Given the description of an element on the screen output the (x, y) to click on. 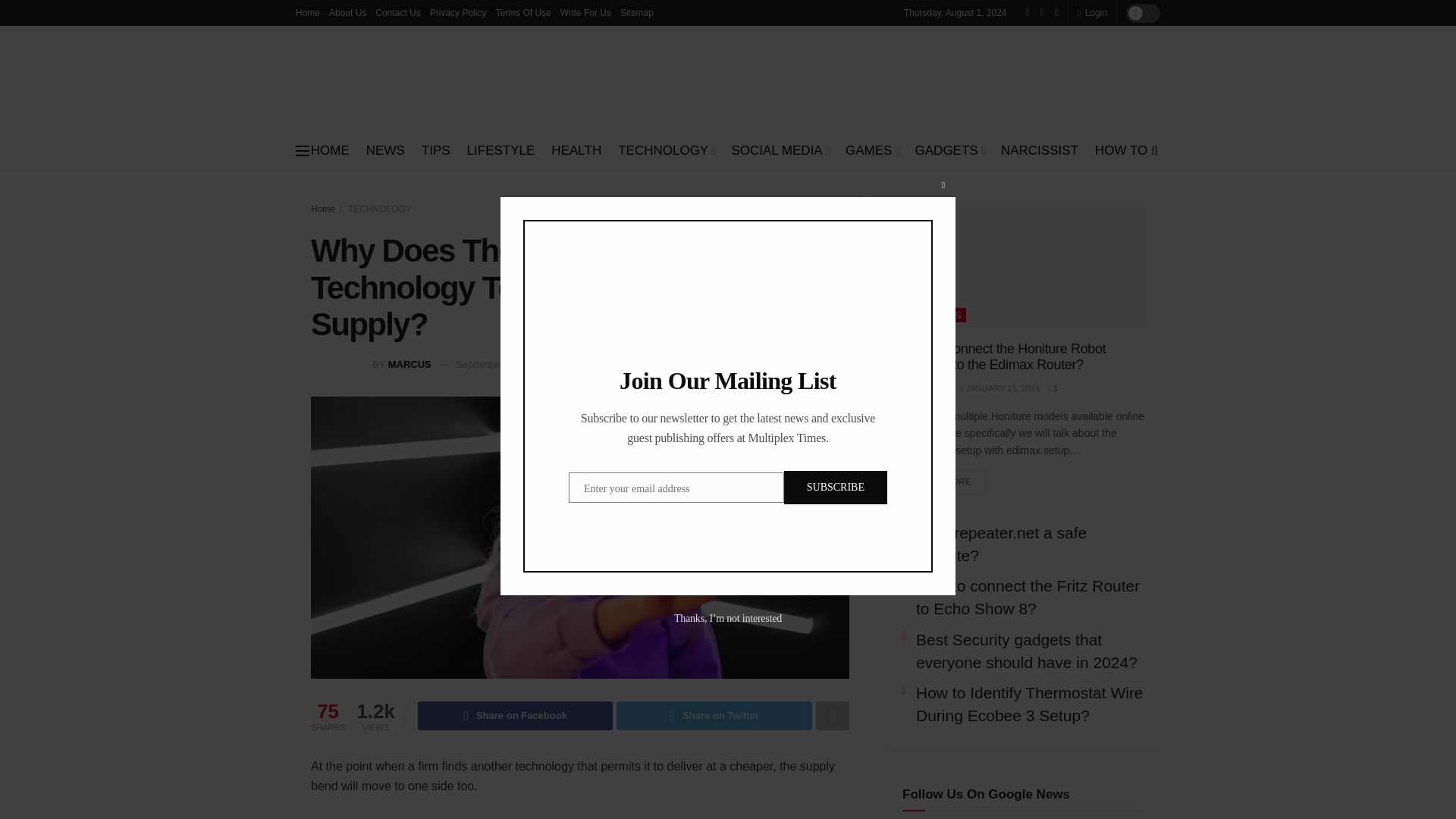
Sitemap (636, 12)
TIPS (435, 150)
About Us (347, 12)
NEWS (385, 150)
Privacy Policy (457, 12)
Terms Of Use (522, 12)
Write For Us (585, 12)
Home (307, 12)
Contact Us (397, 12)
HOME (330, 150)
